Given the description of an element on the screen output the (x, y) to click on. 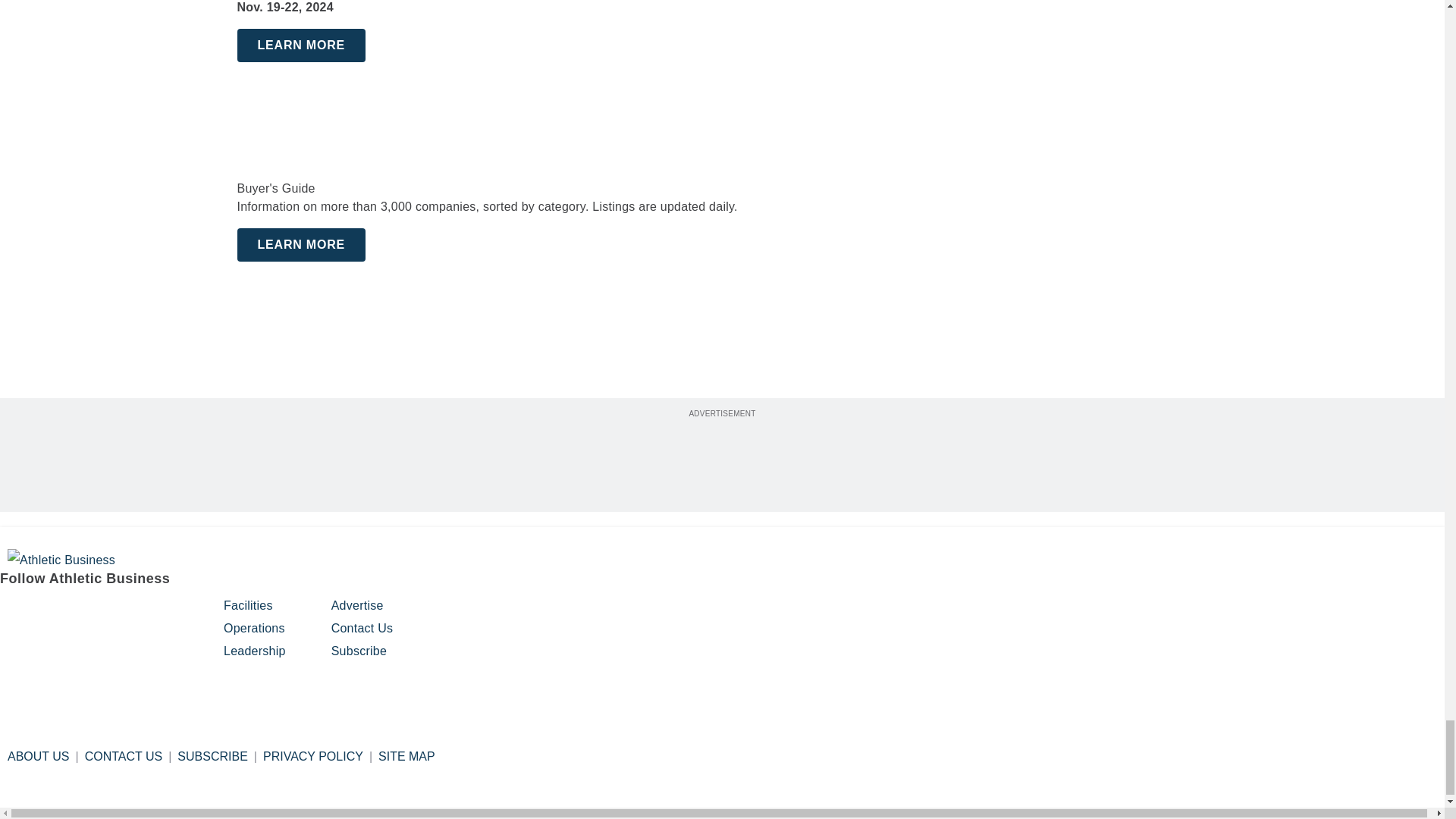
LinkedIn icon (90, 612)
Instagram icon (52, 612)
Facebook icon (13, 612)
YouTube icon (129, 612)
Twitter X icon (168, 612)
